Given the description of an element on the screen output the (x, y) to click on. 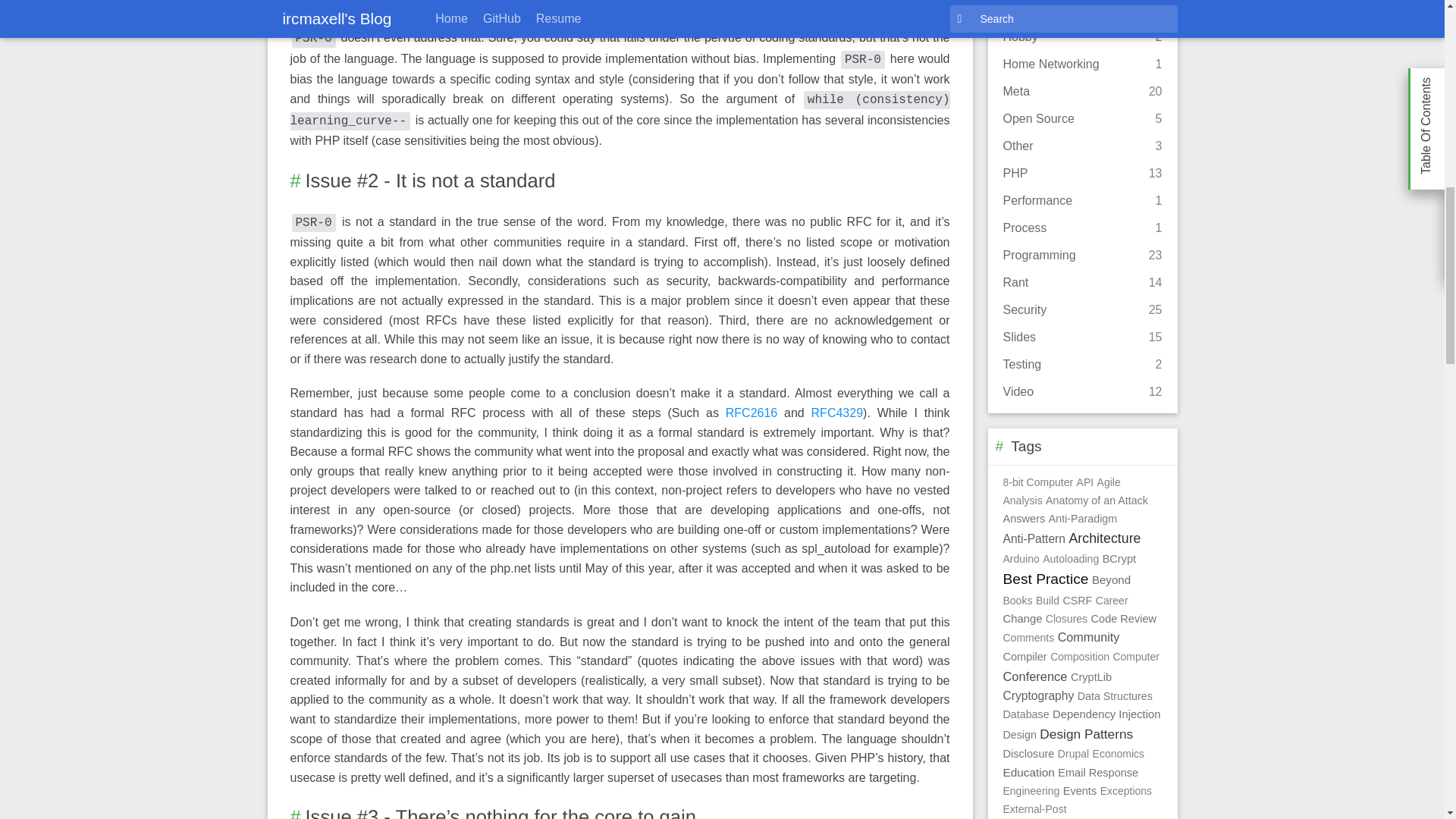
RFC2616 (751, 412)
RFC4329 (836, 412)
